Given the description of an element on the screen output the (x, y) to click on. 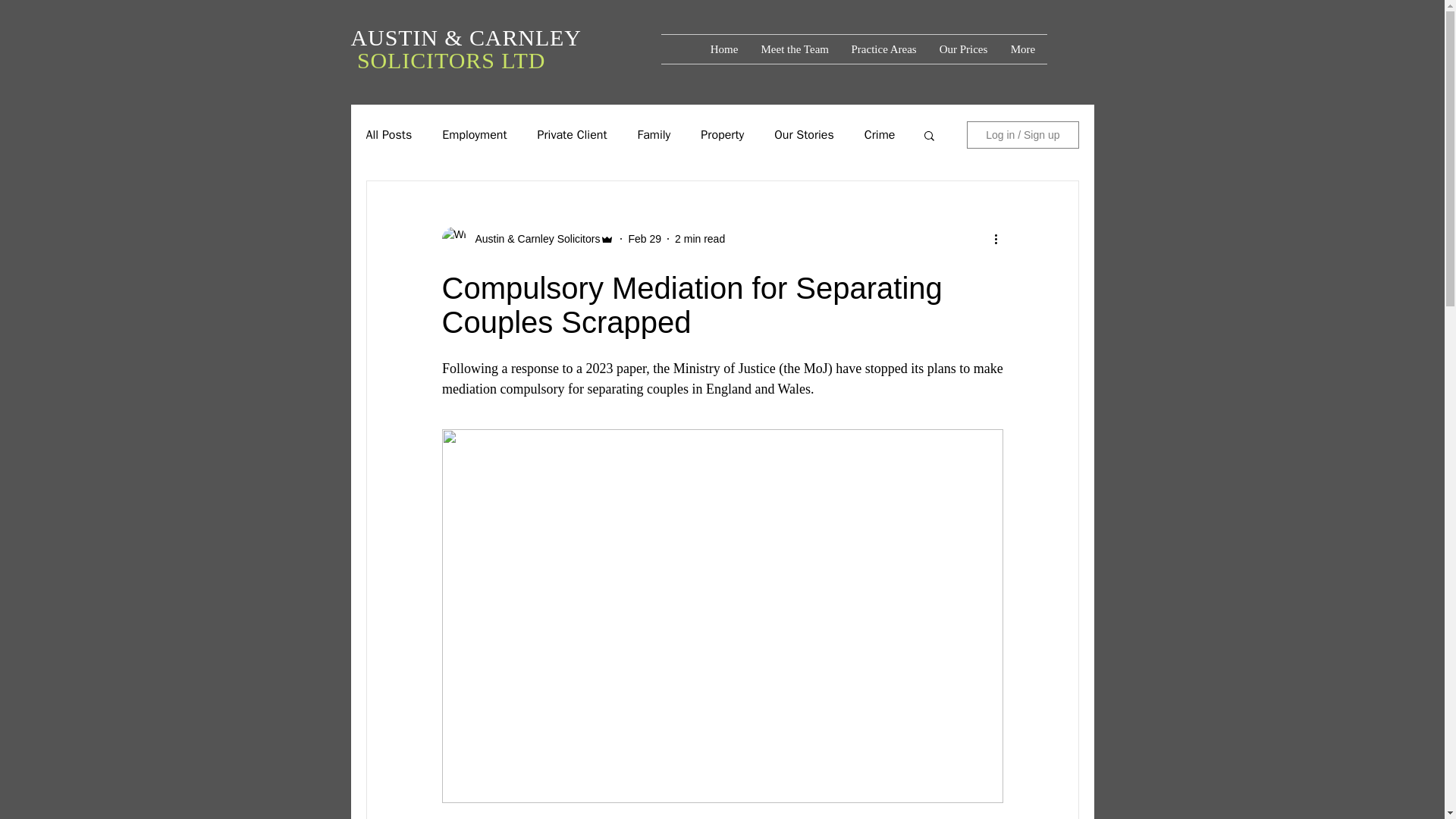
Home (723, 49)
Our Prices (963, 49)
Practice Areas (884, 49)
2 min read (700, 237)
Our Stories (804, 135)
Property (722, 135)
Crime (879, 135)
Feb 29 (644, 237)
All Posts (388, 135)
Employment (474, 135)
LTD (522, 59)
SOLICITORS  (428, 59)
Family (654, 135)
Private Client (572, 135)
Meet the Team (794, 49)
